Given the description of an element on the screen output the (x, y) to click on. 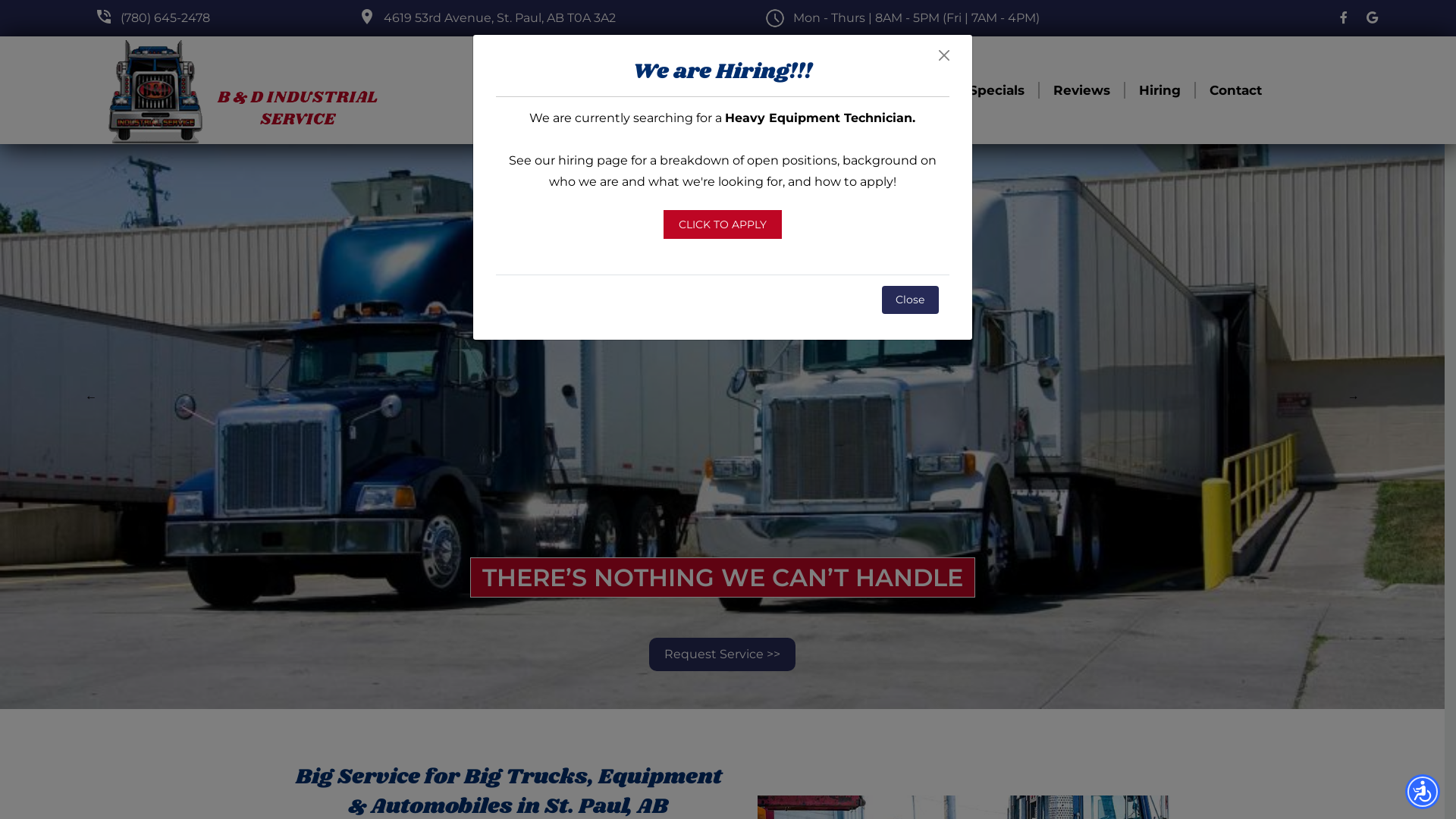
Request Service >> Element type: text (722, 654)
(780) 645-2478 Element type: text (165, 17)
Hiring Element type: text (1159, 90)
Specials Element type: text (996, 90)
About Element type: text (834, 90)
Auto Element type: text (768, 90)
Truck Element type: text (703, 90)
Reviews Element type: text (1081, 90)
Services Element type: text (912, 90)
Contact Element type: text (1235, 90)
CLICK TO APPLY Element type: text (721, 224)
